Given the description of an element on the screen output the (x, y) to click on. 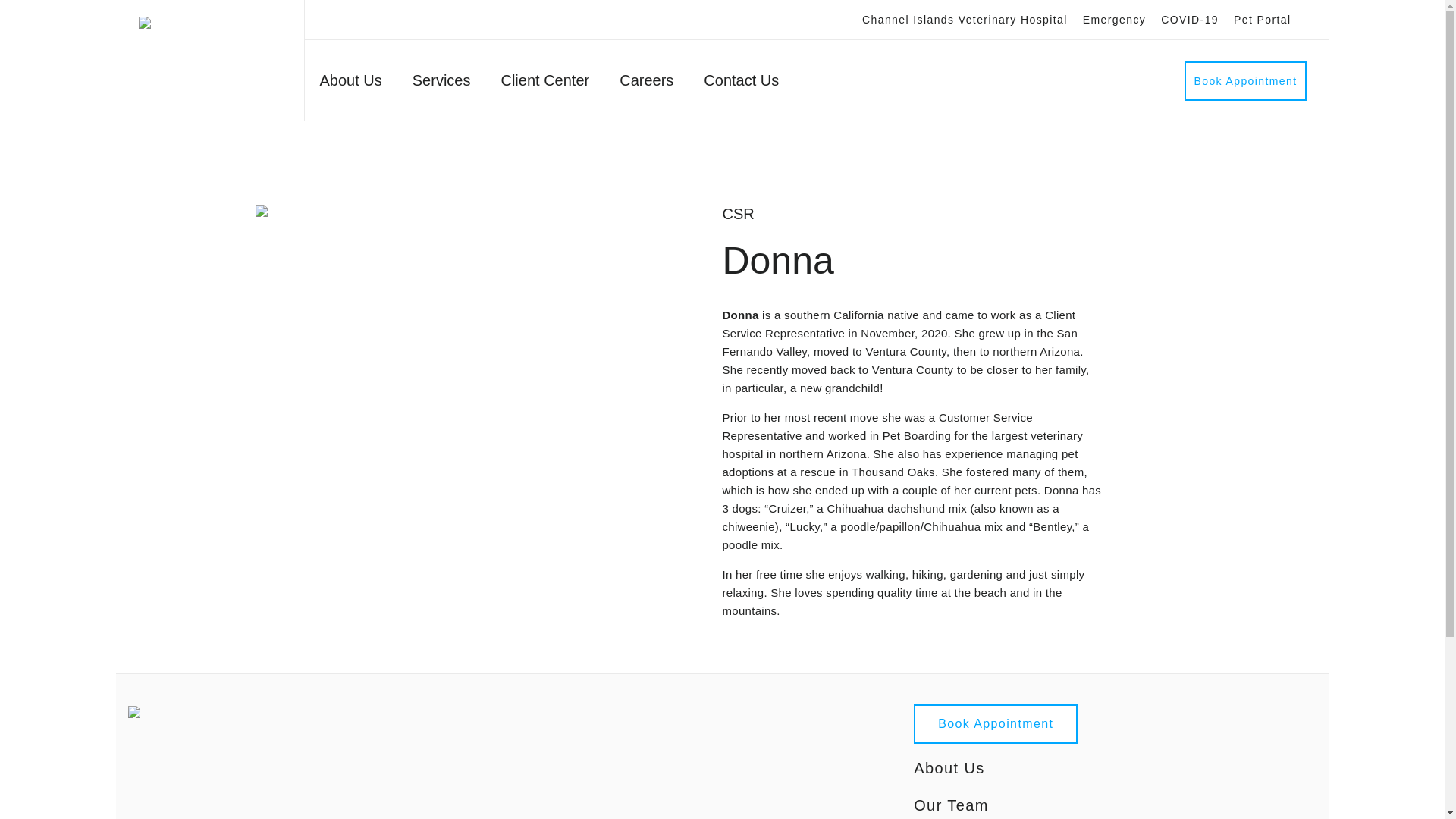
Pet Portal (1261, 19)
Services (441, 84)
Book Appointment (1245, 79)
Client Center (544, 84)
Channel Islands Veterinary Hospital (964, 19)
About Us (350, 84)
COVID-19 (1189, 19)
About Us (949, 767)
Careers (646, 84)
Pet Portal (1261, 19)
